Given the description of an element on the screen output the (x, y) to click on. 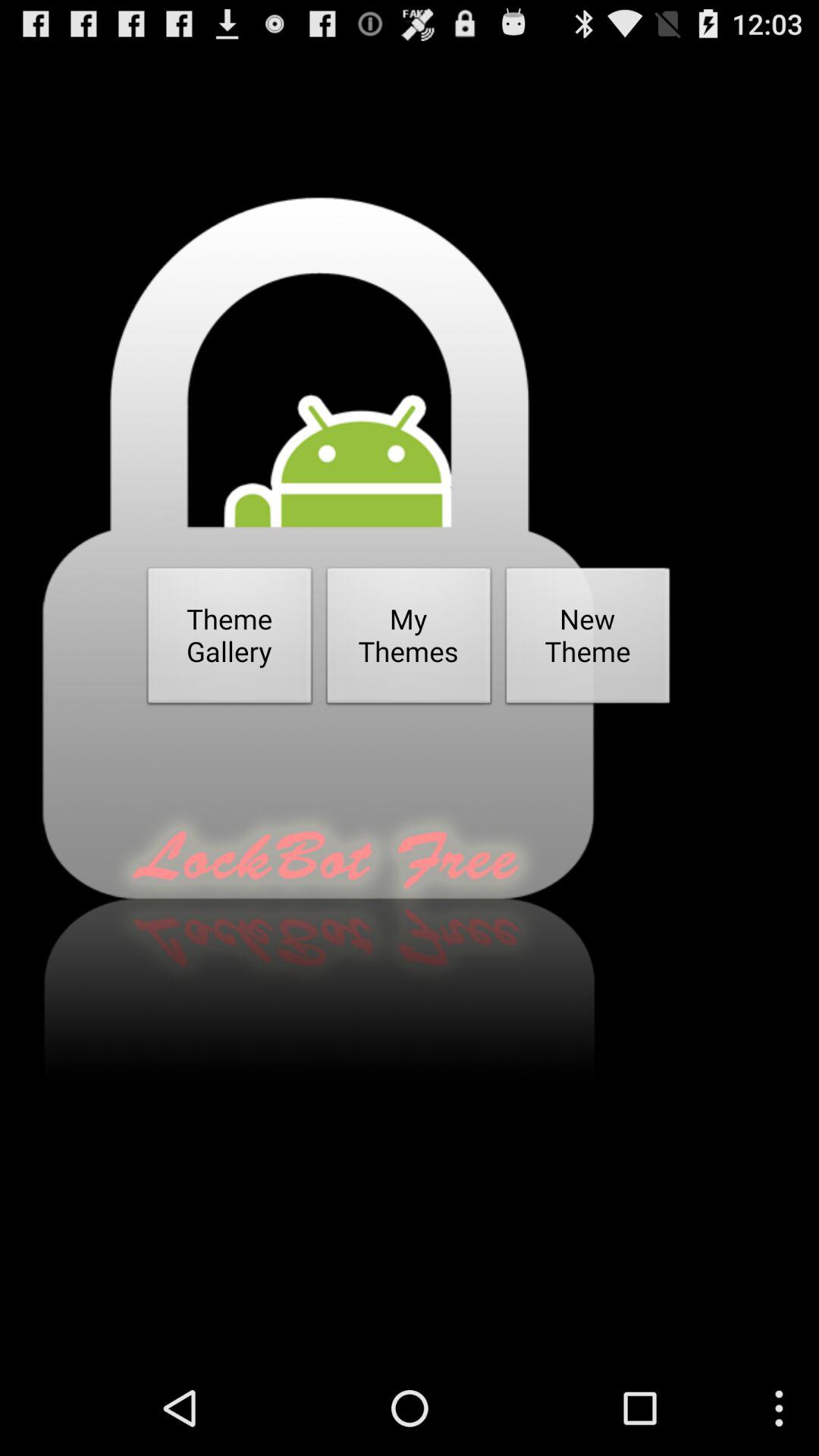
flip until new theme (587, 639)
